Given the description of an element on the screen output the (x, y) to click on. 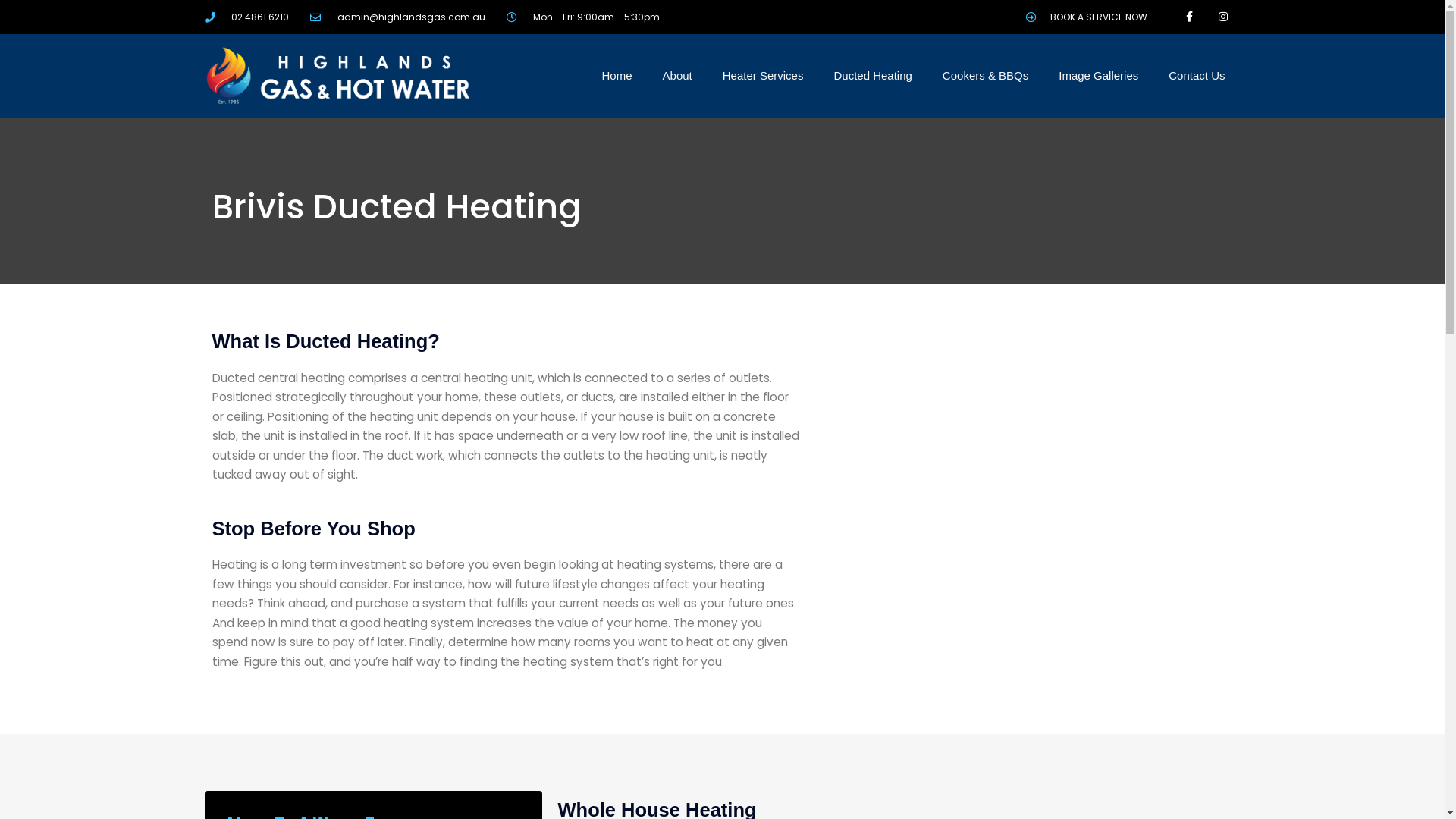
Ducted Heating Element type: text (872, 75)
Cookers & BBQs Element type: text (985, 75)
Heater Services Element type: text (763, 75)
BOOK A SERVICE NOW Element type: text (1084, 17)
Home Element type: text (616, 75)
Image Galleries Element type: text (1098, 75)
Contact Us Element type: text (1196, 75)
About Element type: text (677, 75)
